Given the description of an element on the screen output the (x, y) to click on. 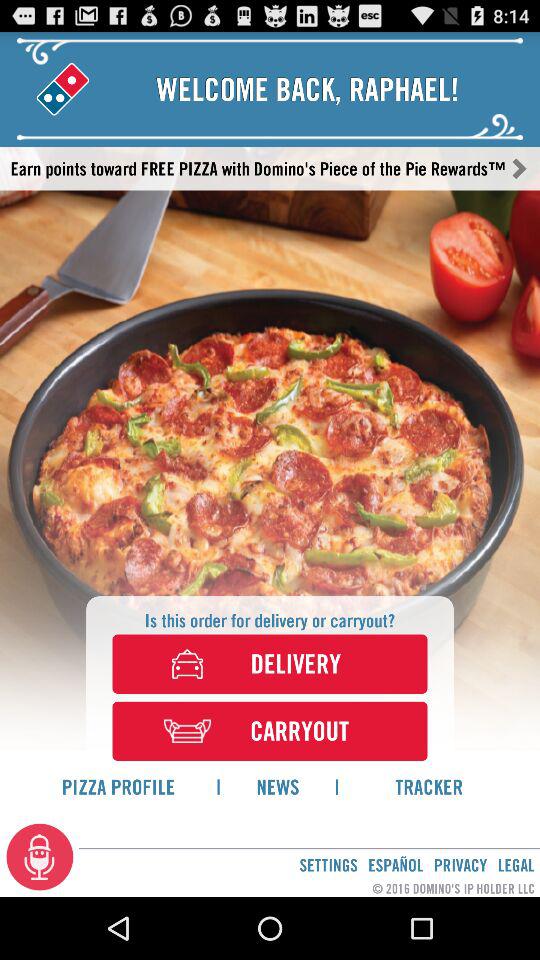
tap the icon to the right of | item (429, 786)
